Given the description of an element on the screen output the (x, y) to click on. 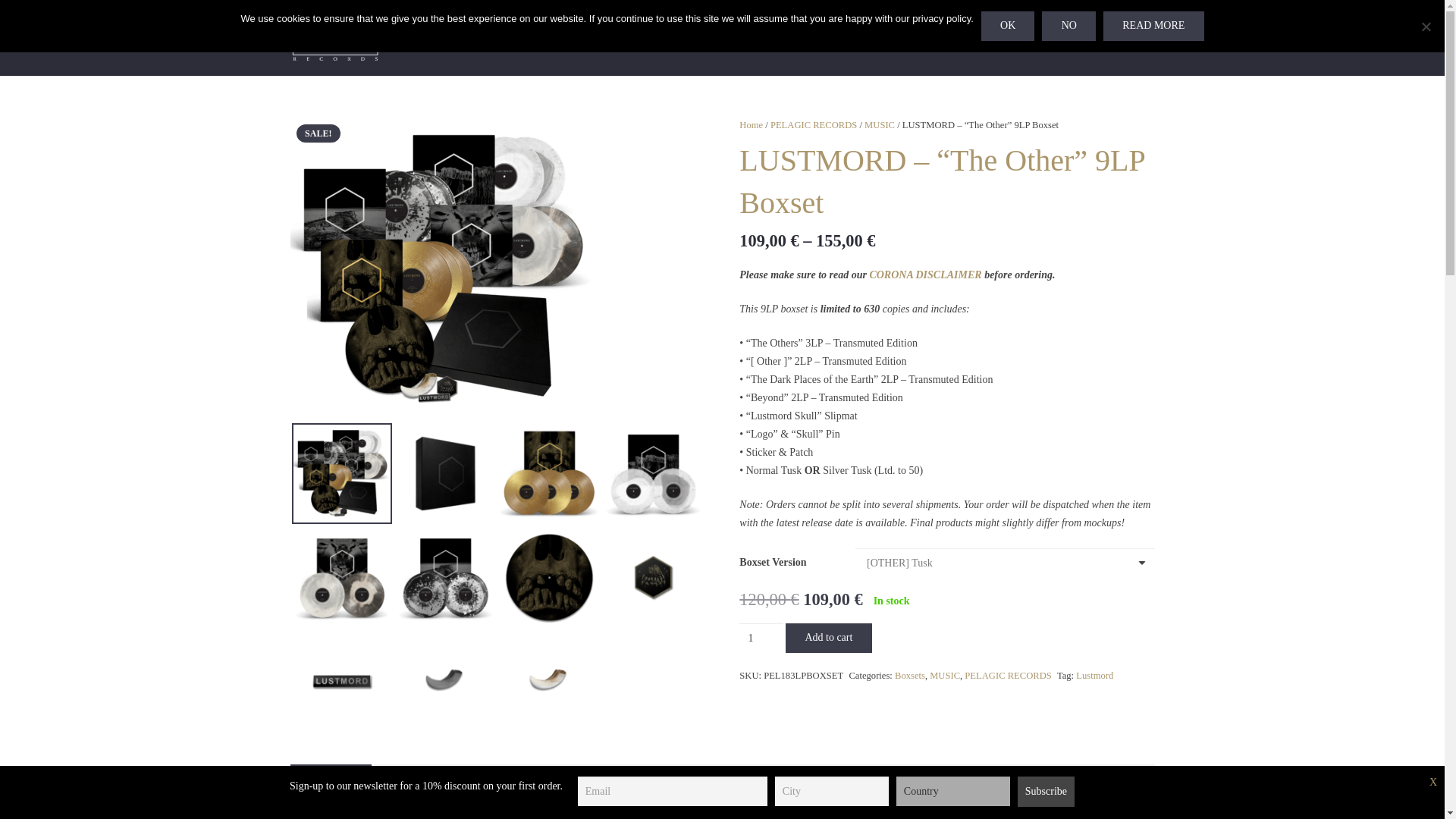
Subscribe (1045, 791)
1 (761, 637)
NO (1425, 26)
SHOP EU (448, 37)
